Given the description of an element on the screen output the (x, y) to click on. 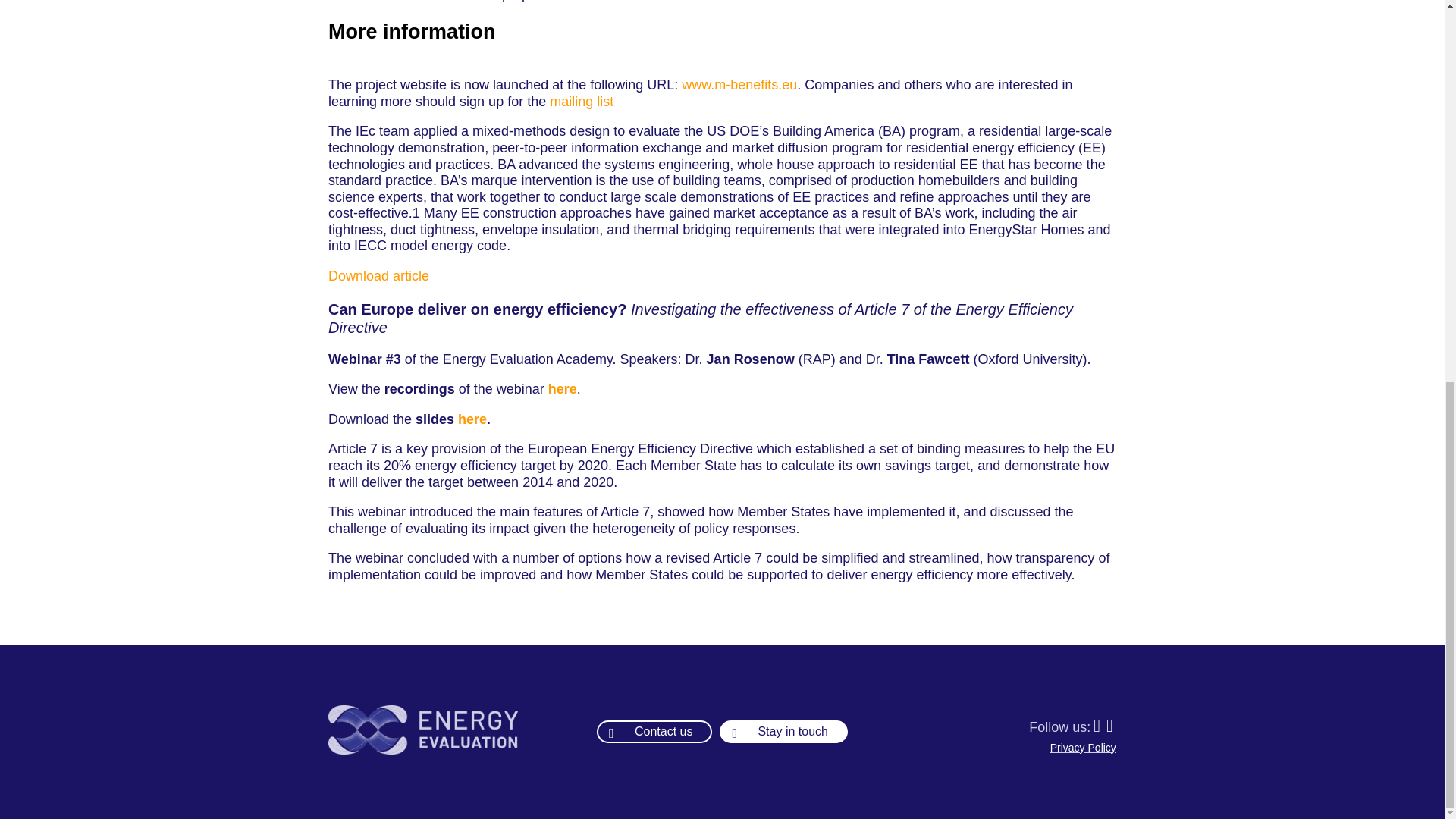
Stay in touch (783, 731)
Contact us (653, 731)
here (472, 418)
Privacy Policy (1082, 747)
here (562, 388)
Download article (379, 275)
www.m-benefits.eu (738, 84)
mailing list (581, 101)
